Given the description of an element on the screen output the (x, y) to click on. 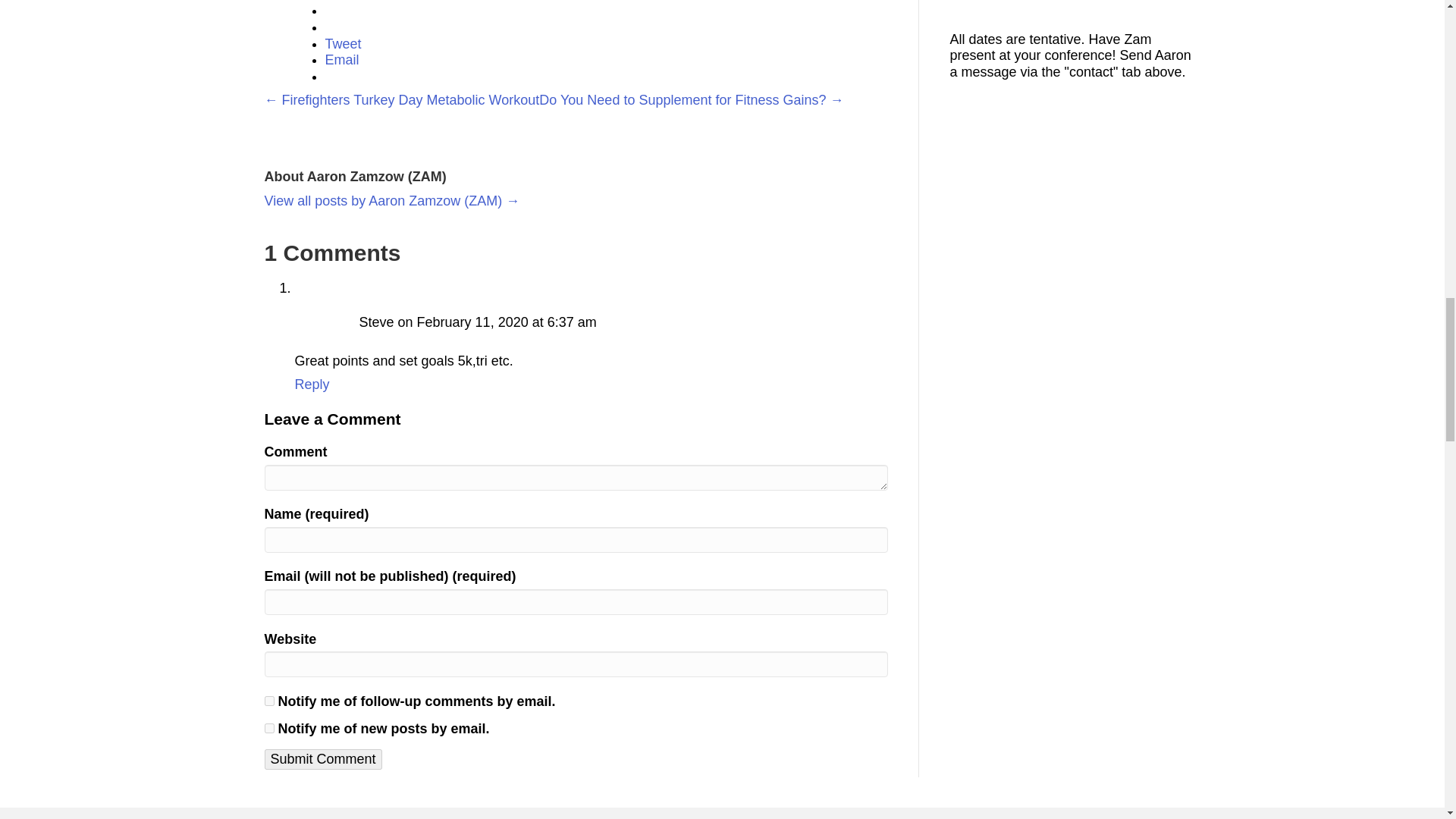
Tweet (342, 43)
Email (341, 59)
subscribe (268, 700)
Reply (311, 384)
Click to email a link to a friend (341, 59)
subscribe (268, 728)
Submit Comment (322, 759)
